Given the description of an element on the screen output the (x, y) to click on. 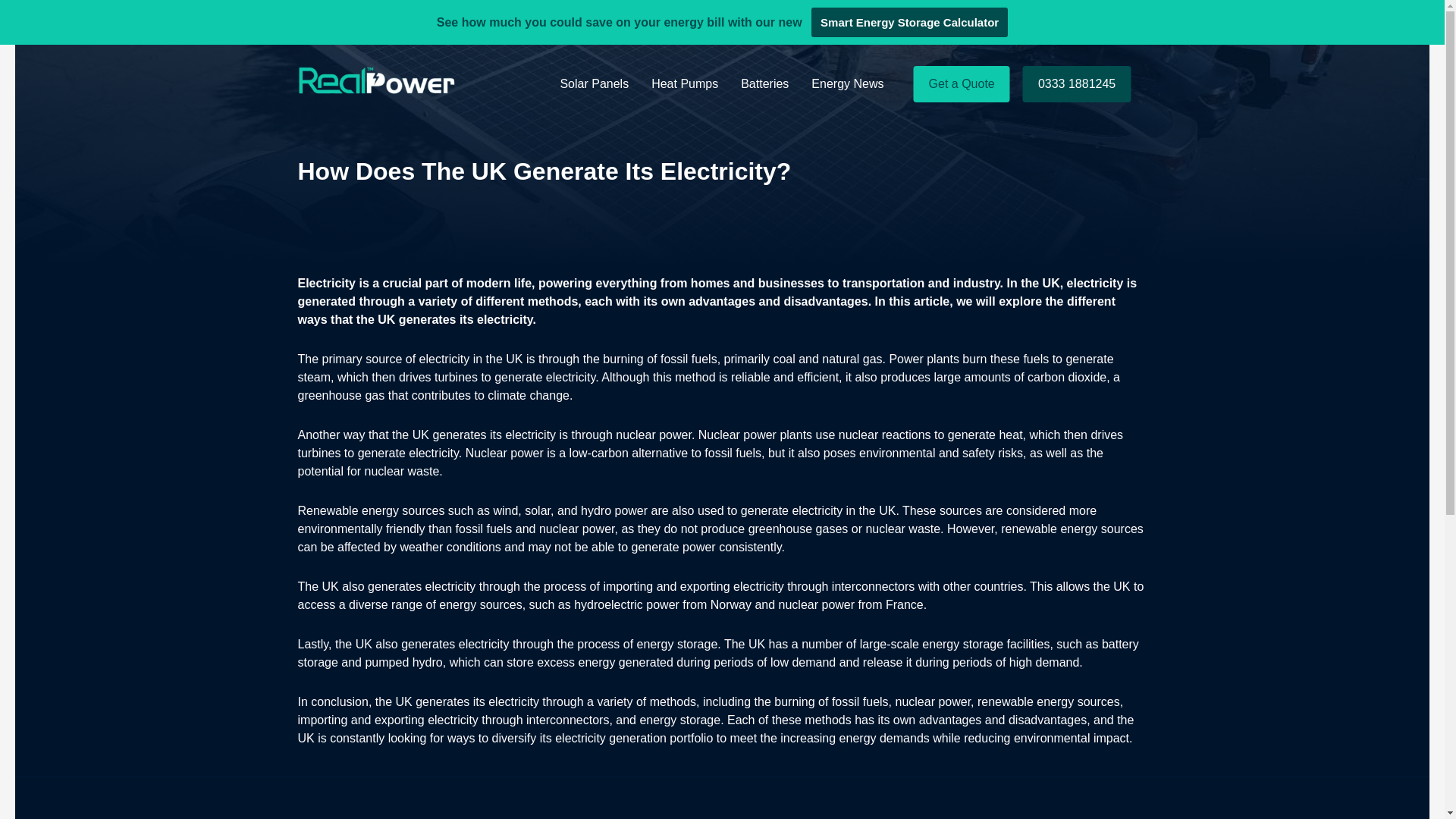
Energy News (847, 83)
Heat Pumps (684, 83)
Smart Energy Storage Calculator (908, 21)
Batteries (764, 83)
Solar Panels (594, 83)
